Given the description of an element on the screen output the (x, y) to click on. 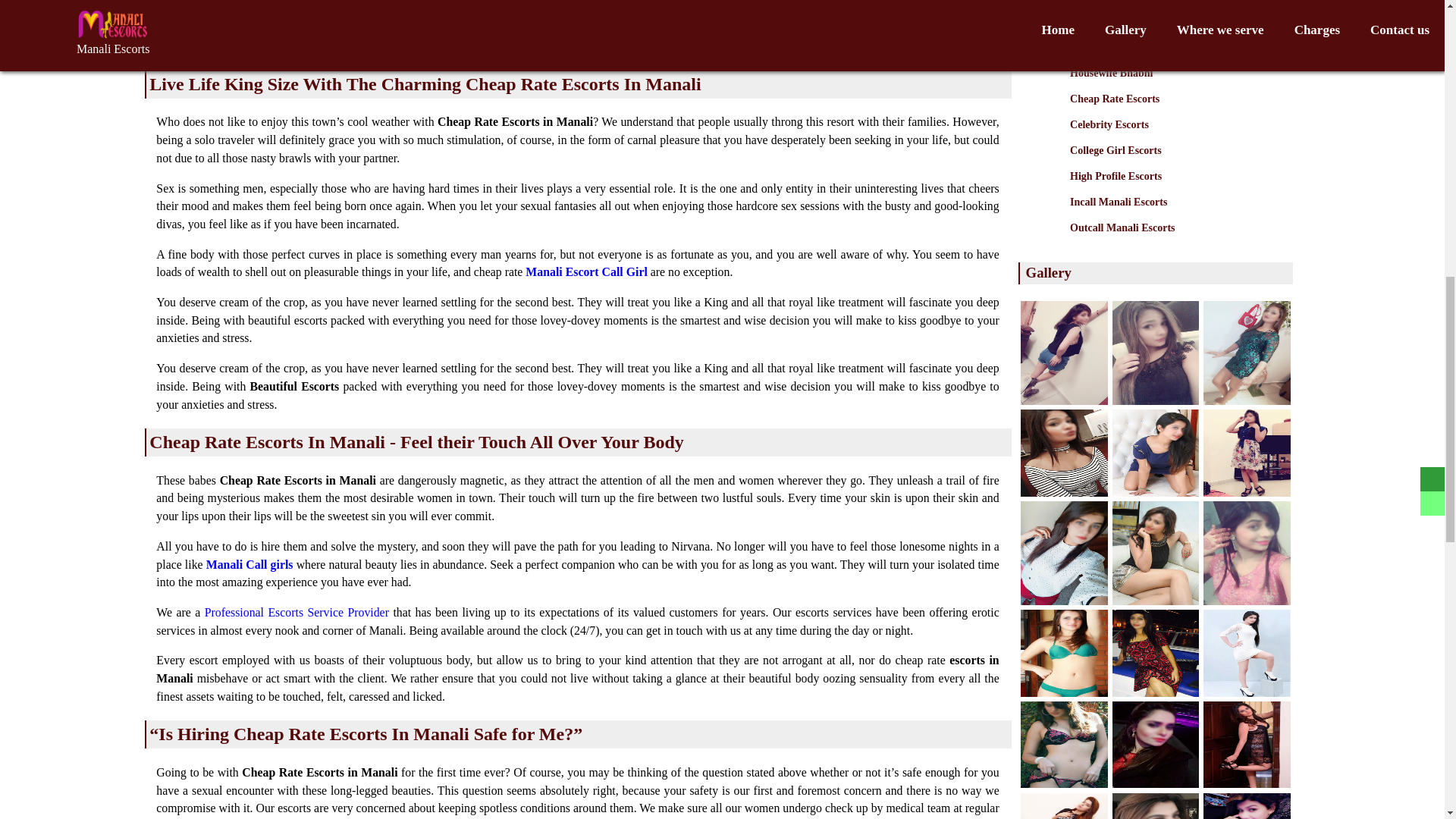
Housewife Bhabhi (1170, 86)
manali Cheap Rate Escorts (1170, 112)
Manali Call girls (250, 563)
Incall Manali Escorts (1170, 215)
High Profile Escorts (1170, 189)
Incall escorts (1170, 215)
Cheap Rate Escorts (1170, 112)
Outcall escorts (1170, 241)
 Kasol Escort (1170, 2)
VIP Model Escorts (1170, 60)
Kasol Escort (1170, 2)
Manali Celebrity Escorts (1170, 138)
Manali Housewife Bhabhi (1170, 86)
Celebrity Escorts (1170, 138)
High Profile Escorts in Manali (1170, 189)
